Given the description of an element on the screen output the (x, y) to click on. 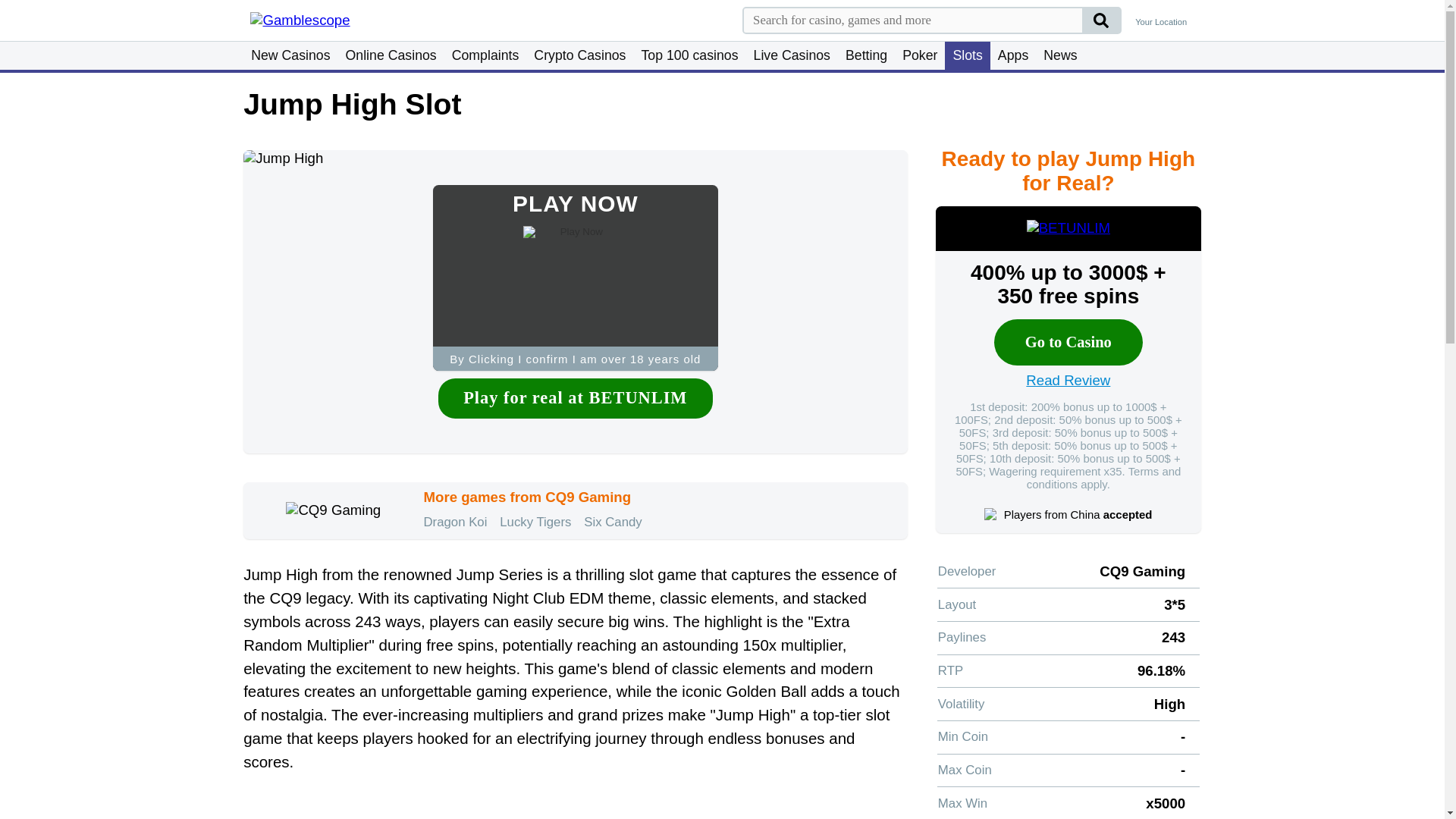
New Casinos (290, 55)
CQ9 Gaming (332, 510)
Online Casinos (390, 55)
Play Now (574, 278)
Jump High (575, 158)
BETUNLIM (1067, 228)
Gamblescope (329, 20)
China (990, 514)
